Given the description of an element on the screen output the (x, y) to click on. 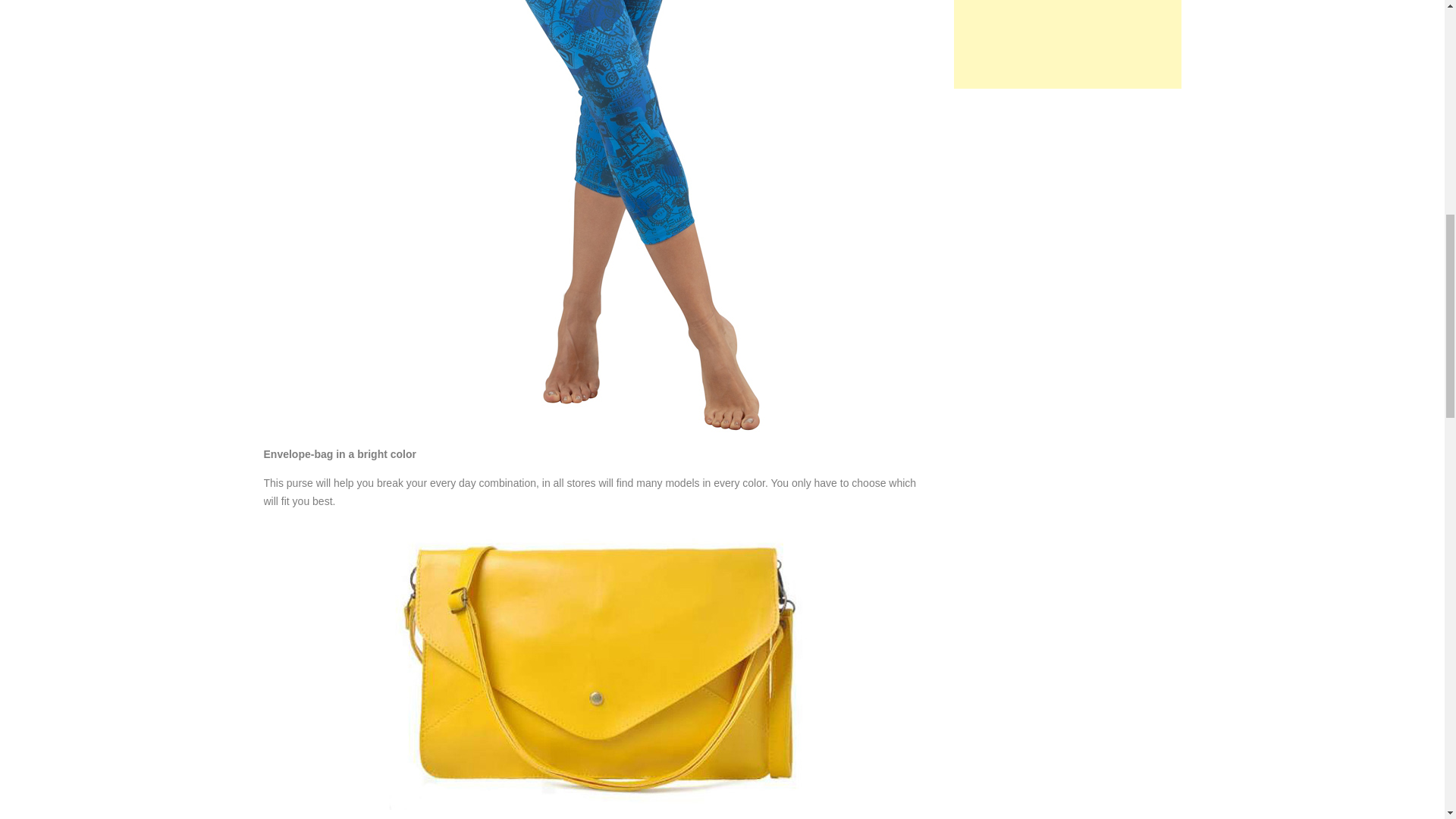
Advertisement (1066, 44)
